Given the description of an element on the screen output the (x, y) to click on. 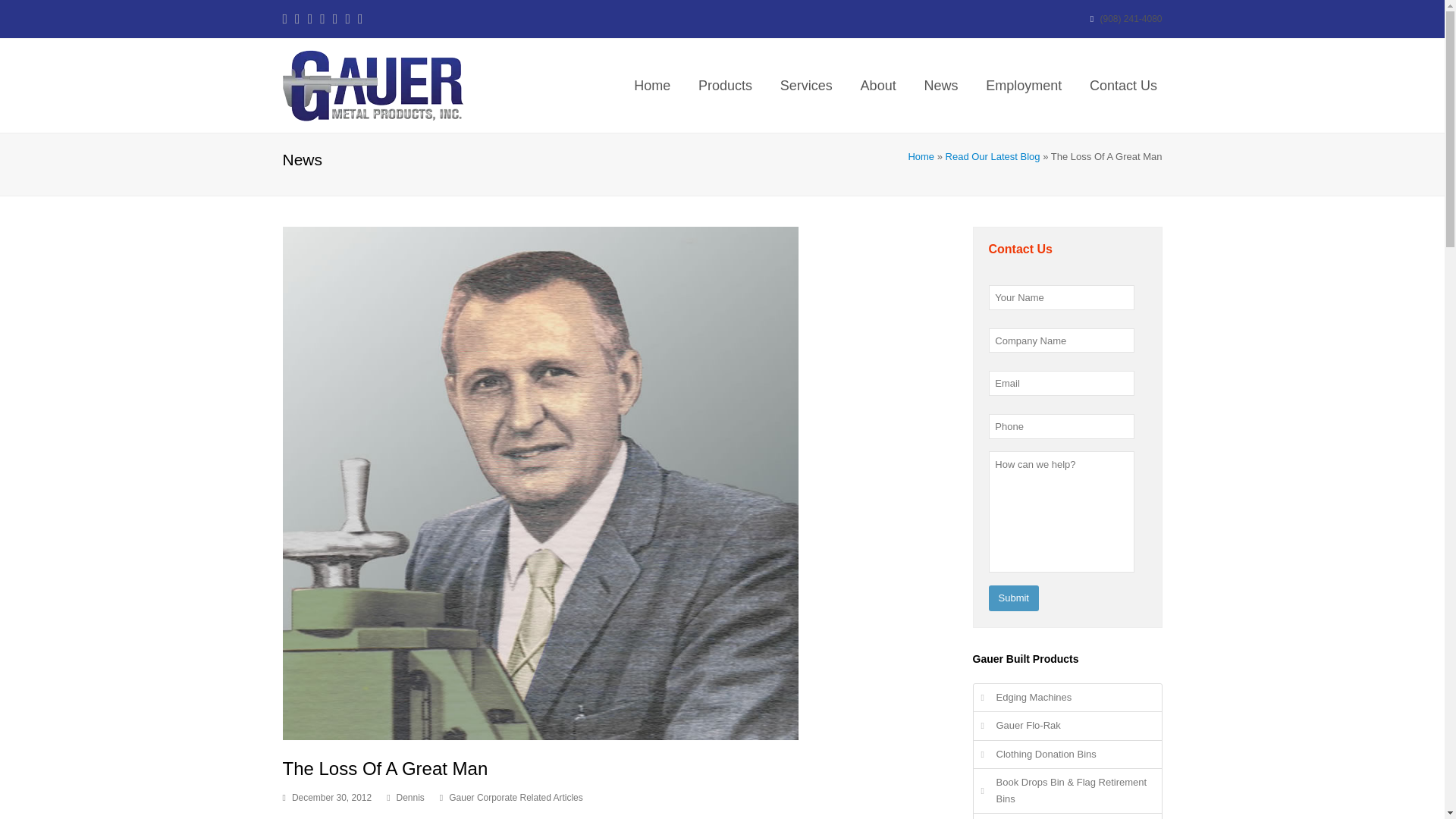
Home (652, 85)
Products (725, 85)
Contact Us (1123, 85)
Gauer Flo-Rak (1067, 725)
Employment (1023, 85)
News (941, 85)
Dennis (410, 797)
Gauer Corporate Related Articles (515, 797)
Edging Machines (1067, 697)
Services (805, 85)
